Given the description of an element on the screen output the (x, y) to click on. 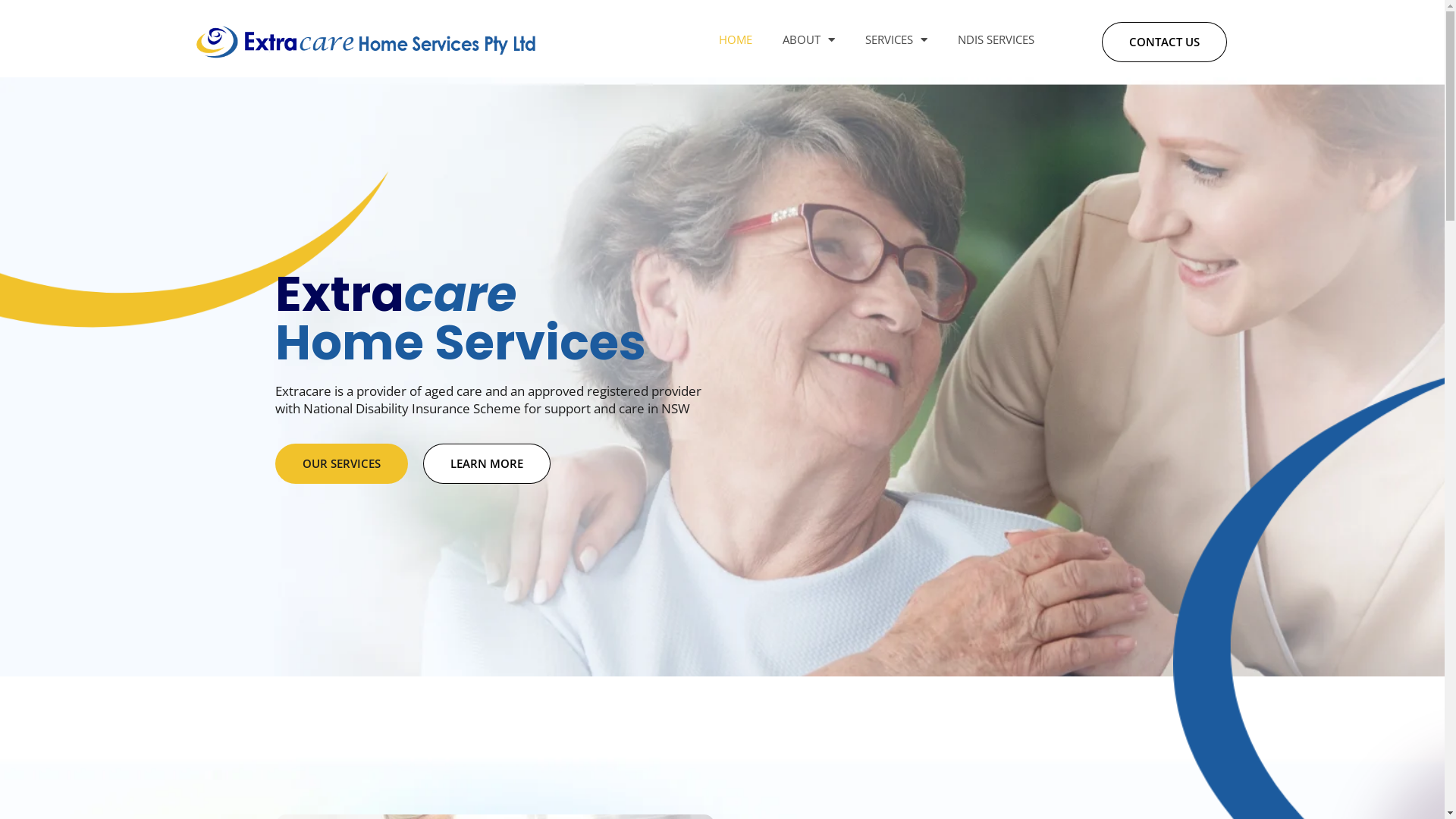
LEARN MORE Element type: text (486, 463)
OUR SERVICES Element type: text (340, 463)
SERVICES Element type: text (896, 38)
HOME Element type: text (735, 38)
ABOUT Element type: text (808, 38)
CONTACT US Element type: text (1163, 41)
NDIS SERVICES Element type: text (995, 38)
